Given the description of an element on the screen output the (x, y) to click on. 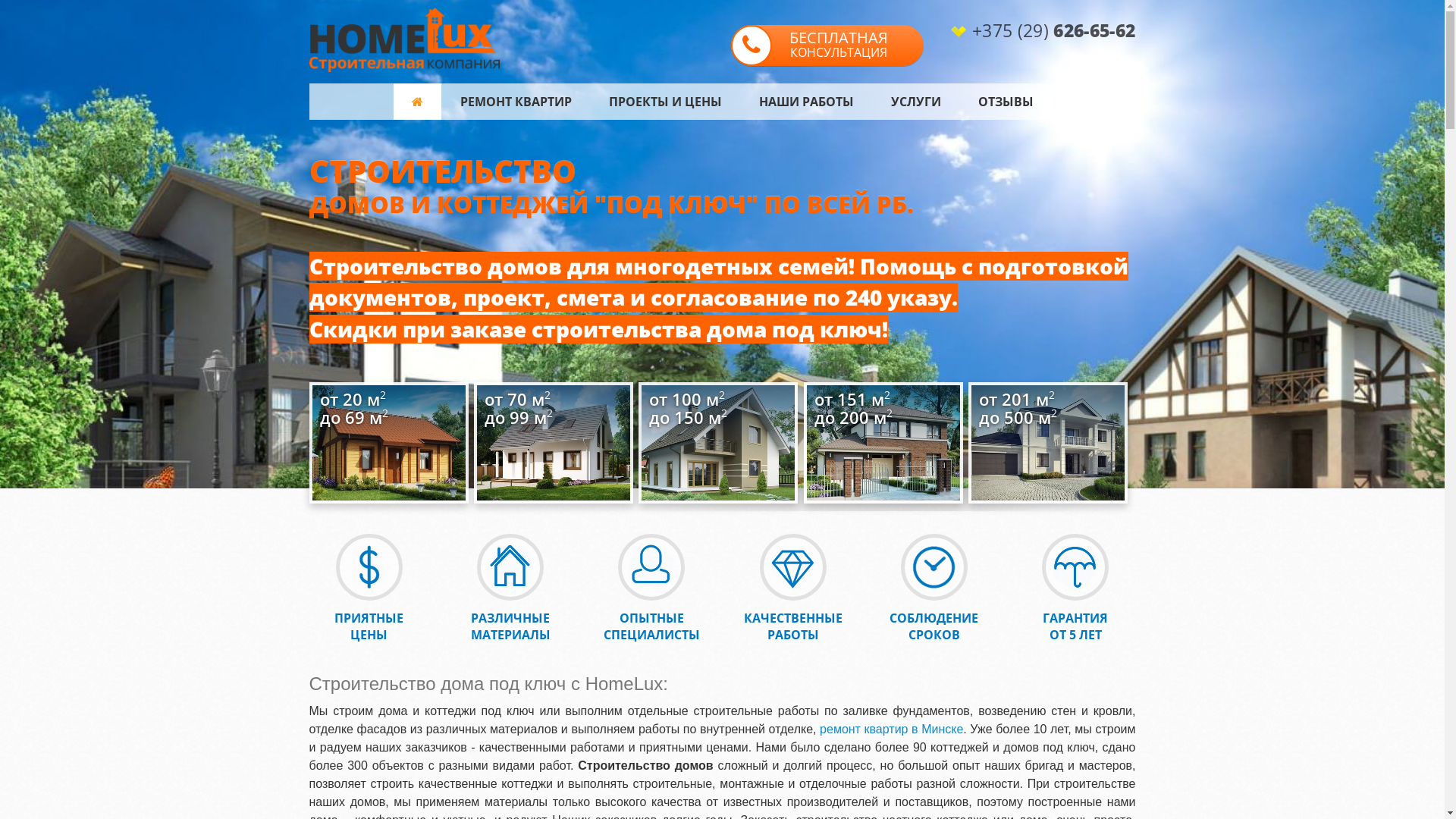
+375 (29) 626-65-62 Element type: text (1053, 30)
